Given the description of an element on the screen output the (x, y) to click on. 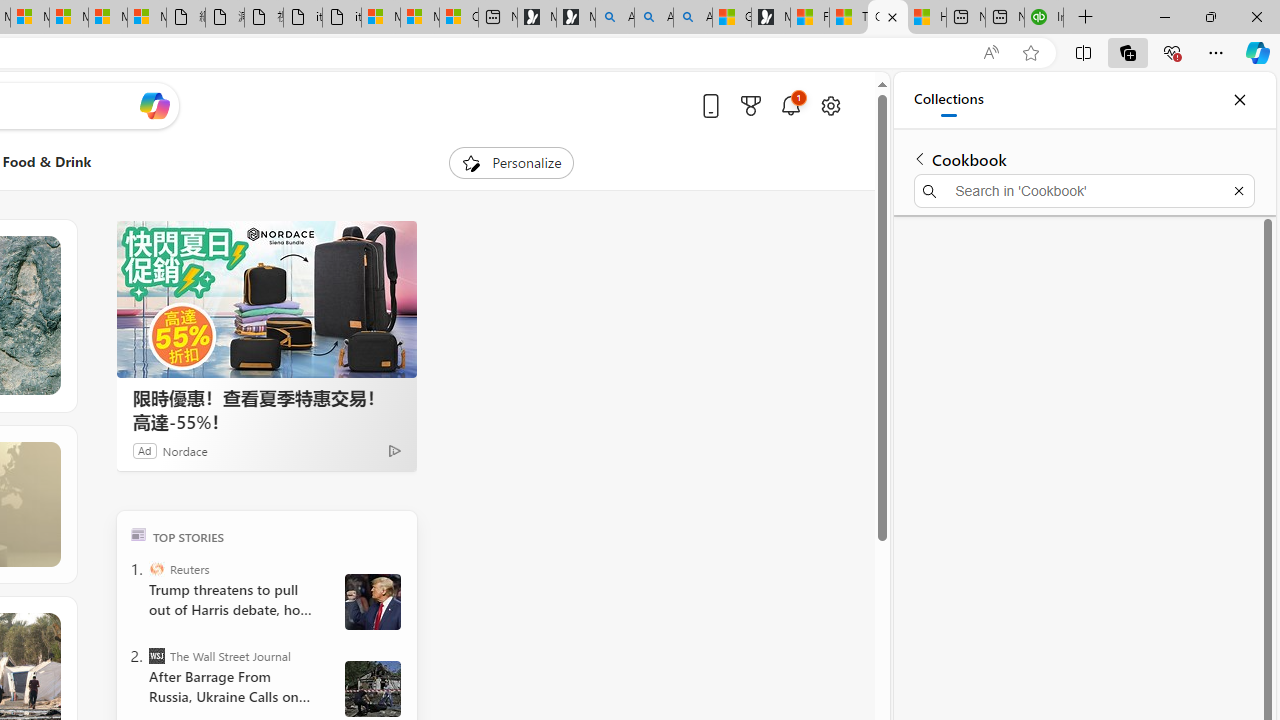
itconcepthk.com/projector_solutions.mp4 (341, 17)
Alabama high school quarterback dies - Search Videos (692, 17)
Ad Choice (394, 449)
Notifications (790, 105)
Search in 'Cookbook' (1084, 190)
Microsoft Start Gaming (770, 17)
Food and Drink - MSN (810, 17)
Reuters (156, 568)
